Given the description of an element on the screen output the (x, y) to click on. 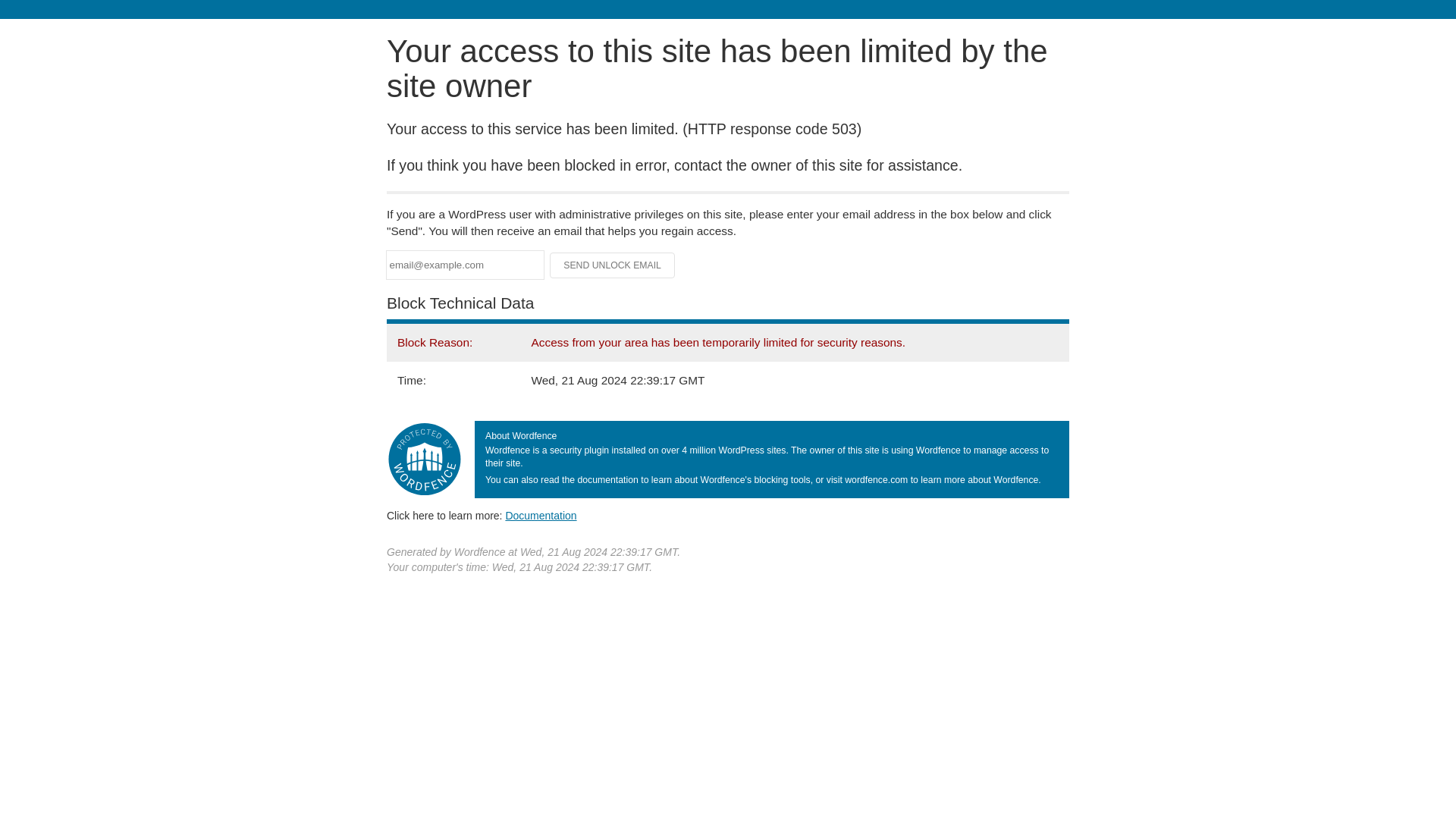
Send Unlock Email (612, 265)
Documentation (540, 515)
Send Unlock Email (612, 265)
